Given the description of an element on the screen output the (x, y) to click on. 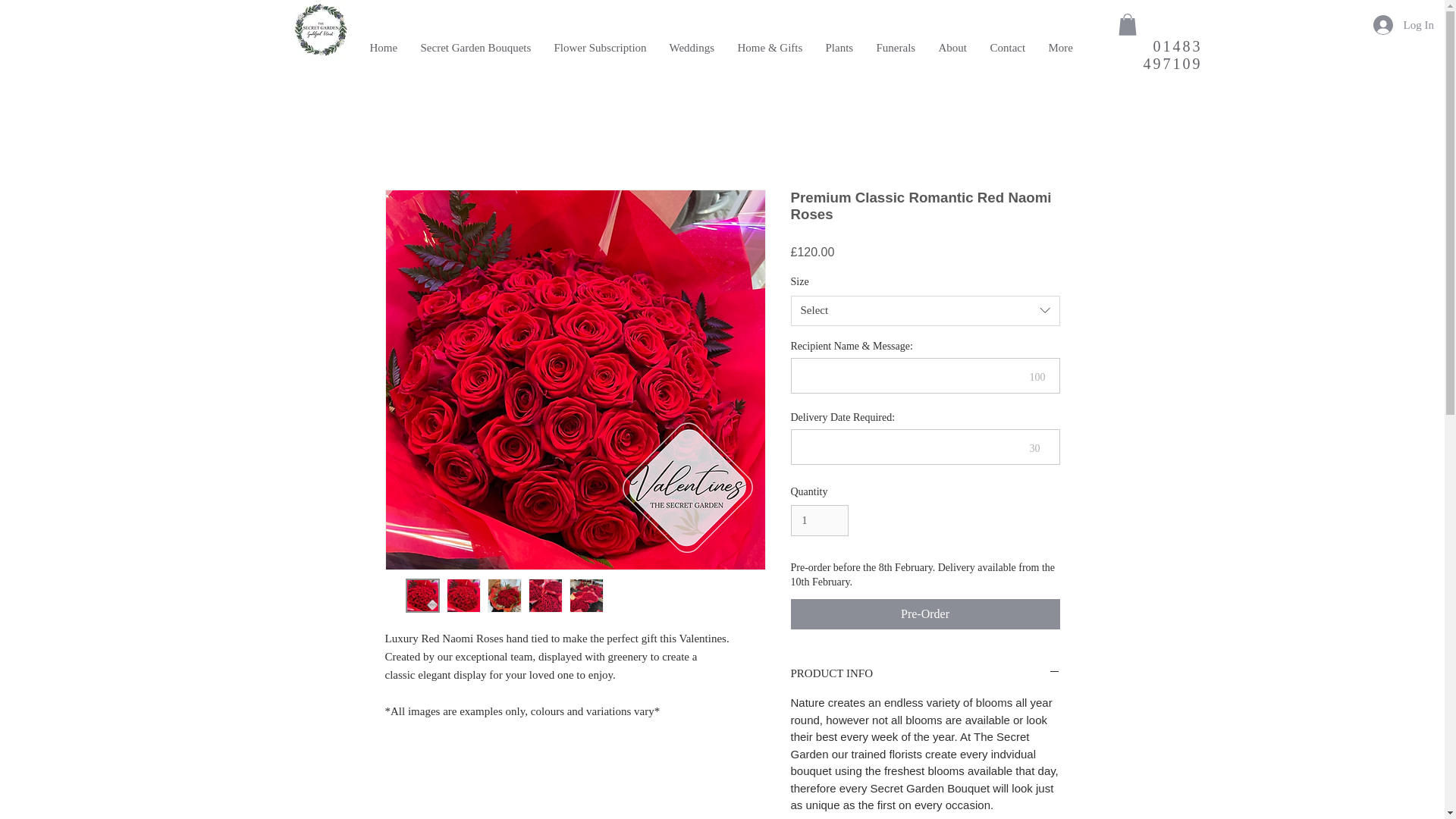
PRODUCT INFO (924, 673)
Funerals (895, 47)
The Secret Garden (299, 38)
Weddings (692, 47)
Contact (1007, 47)
Secret Garden Bouquets (476, 47)
Home (383, 47)
Flower Subscription (600, 47)
1 (818, 520)
Select (924, 310)
About (952, 47)
Pre-Order (924, 613)
Plants (838, 47)
